Given the description of an element on the screen output the (x, y) to click on. 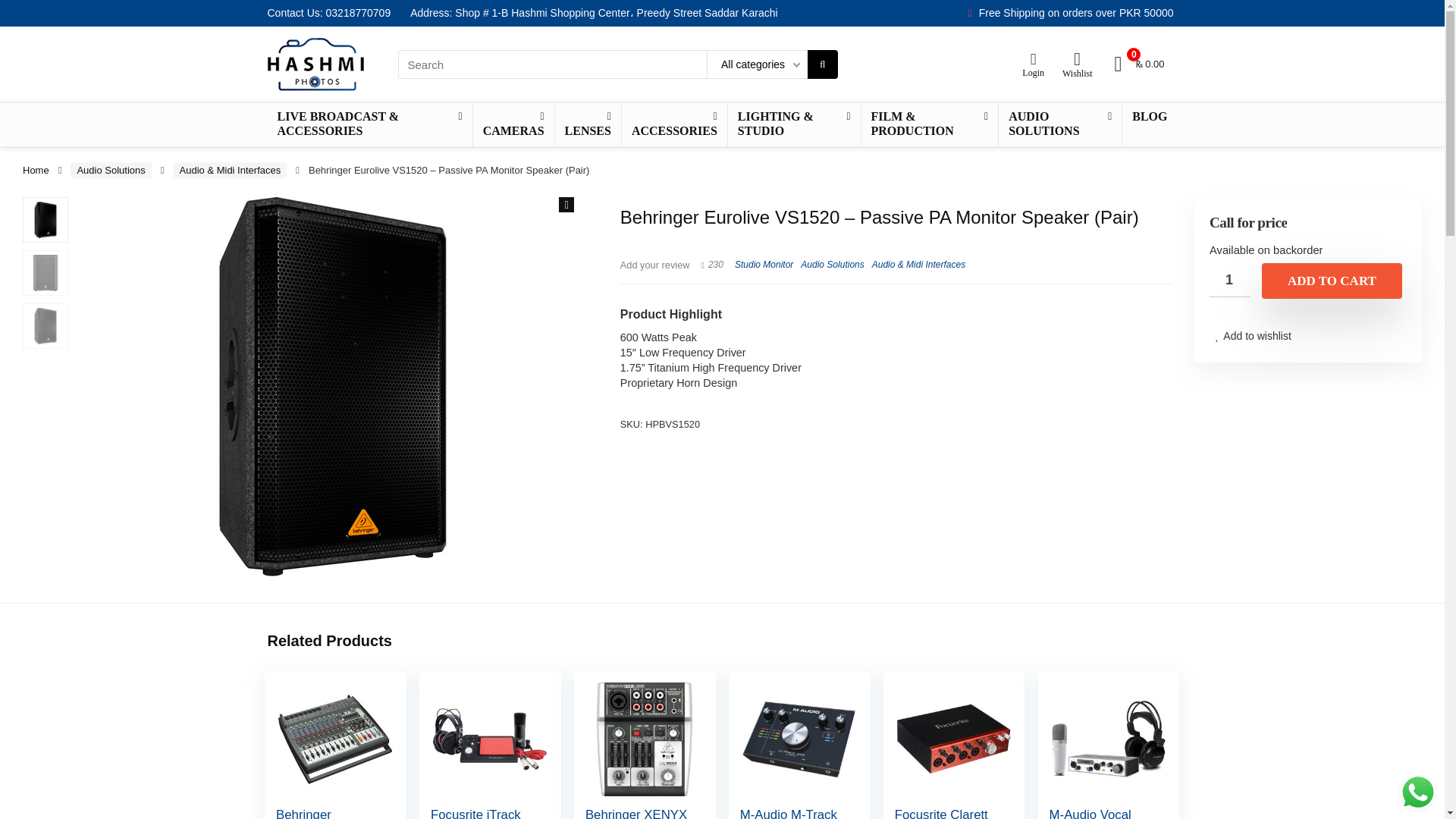
View all posts in Audio Solutions (831, 264)
Add your review (655, 265)
Contact Us: 03218770709 (328, 12)
LENSES (587, 124)
1 (1229, 279)
CAMERAS (513, 124)
View all posts in Studio Monitor (764, 264)
